Given the description of an element on the screen output the (x, y) to click on. 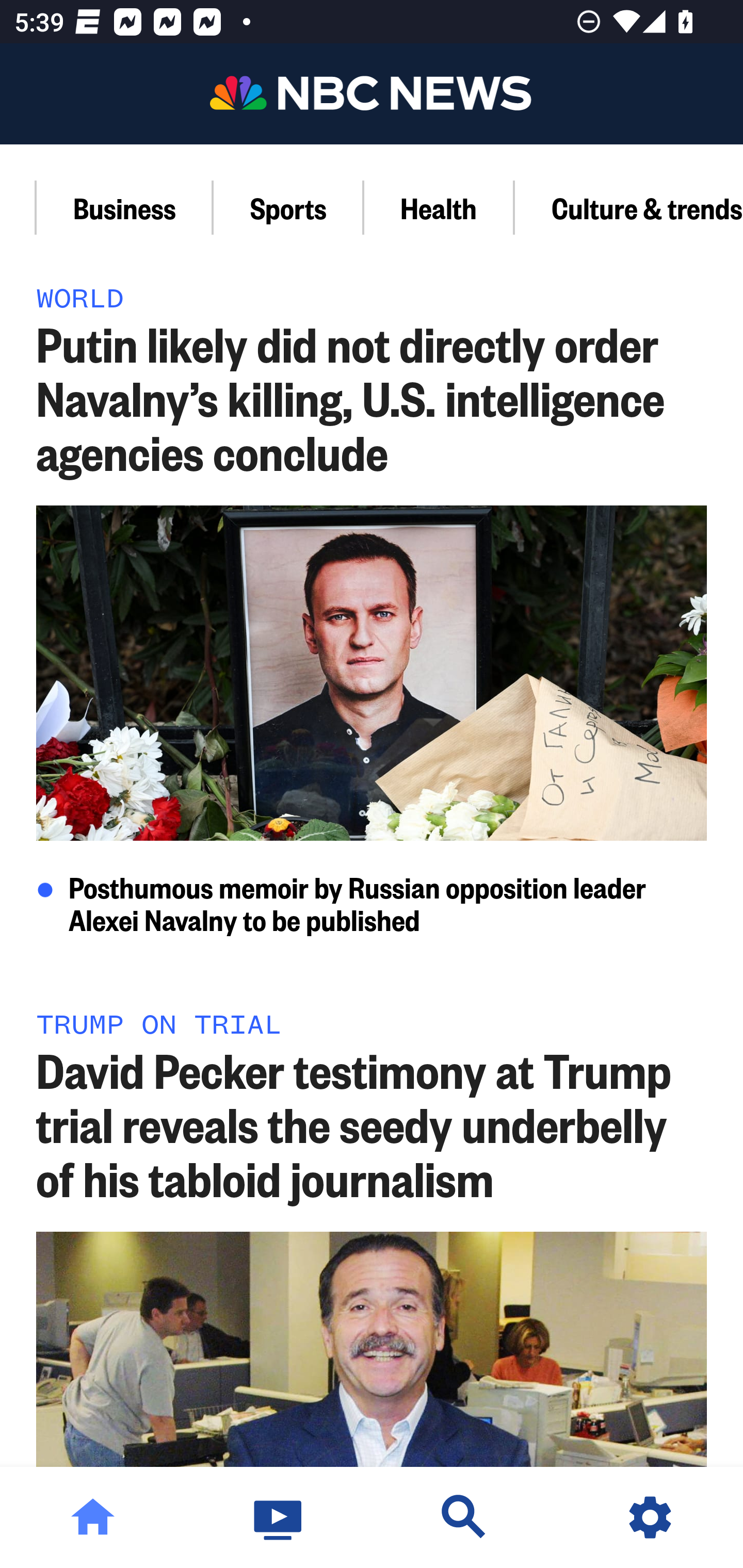
Business Section,Business (124, 207)
Sports Section,Sports (288, 207)
Health Section,Health (439, 207)
Culture & trends Section,Culture & trends (628, 207)
Watch (278, 1517)
Discover (464, 1517)
Settings (650, 1517)
